Given the description of an element on the screen output the (x, y) to click on. 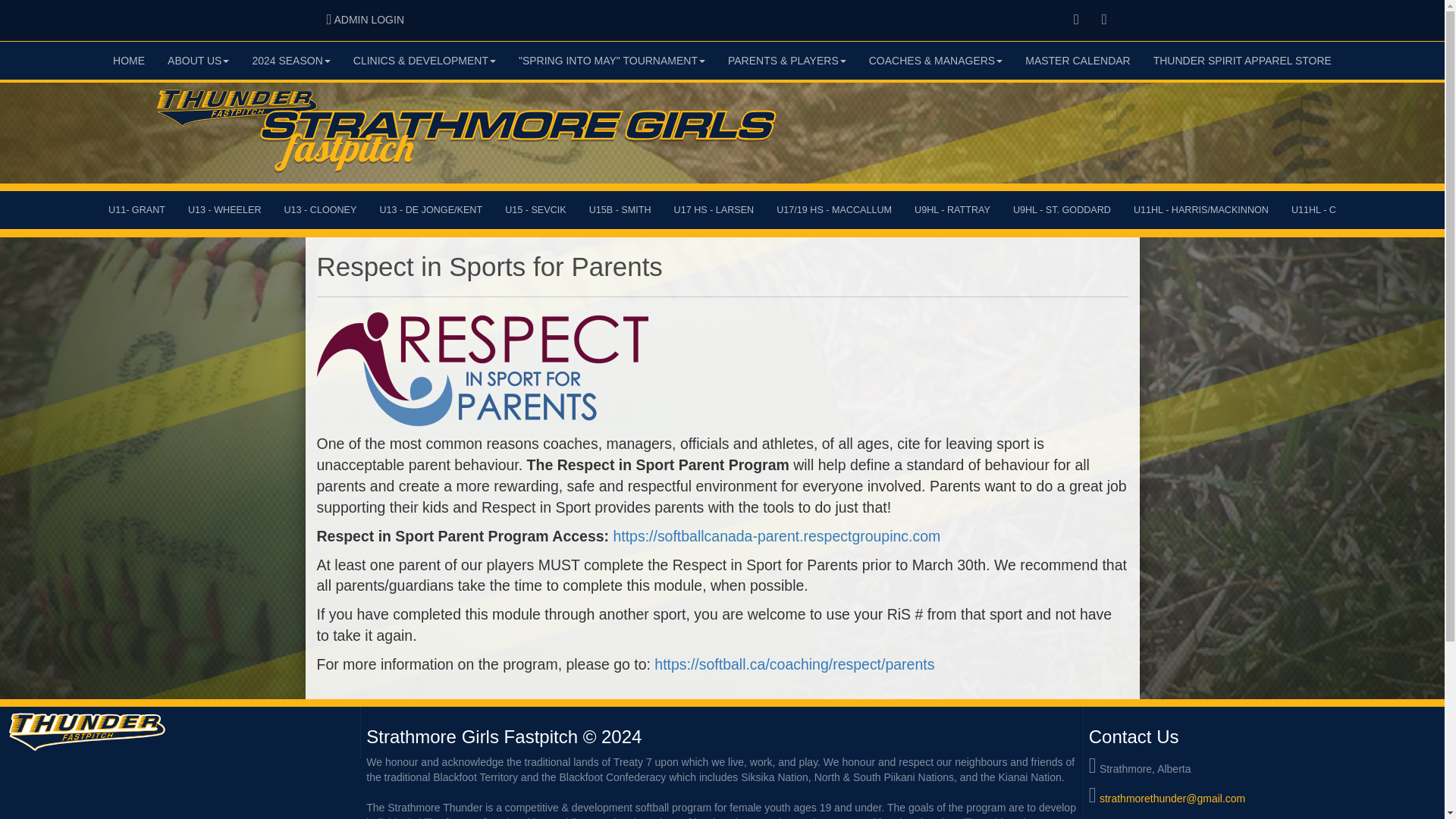
2024 SEASON (290, 60)
ABOUT US (197, 60)
"SPRING INTO MAY" TOURNAMENT (611, 60)
U11- GRANT (136, 209)
Facebook (365, 20)
Instagram (1076, 20)
THUNDER SPIRIT APPAREL STORE (1104, 20)
MASTER CALENDAR (1241, 60)
HOME (1077, 60)
